Given the description of an element on the screen output the (x, y) to click on. 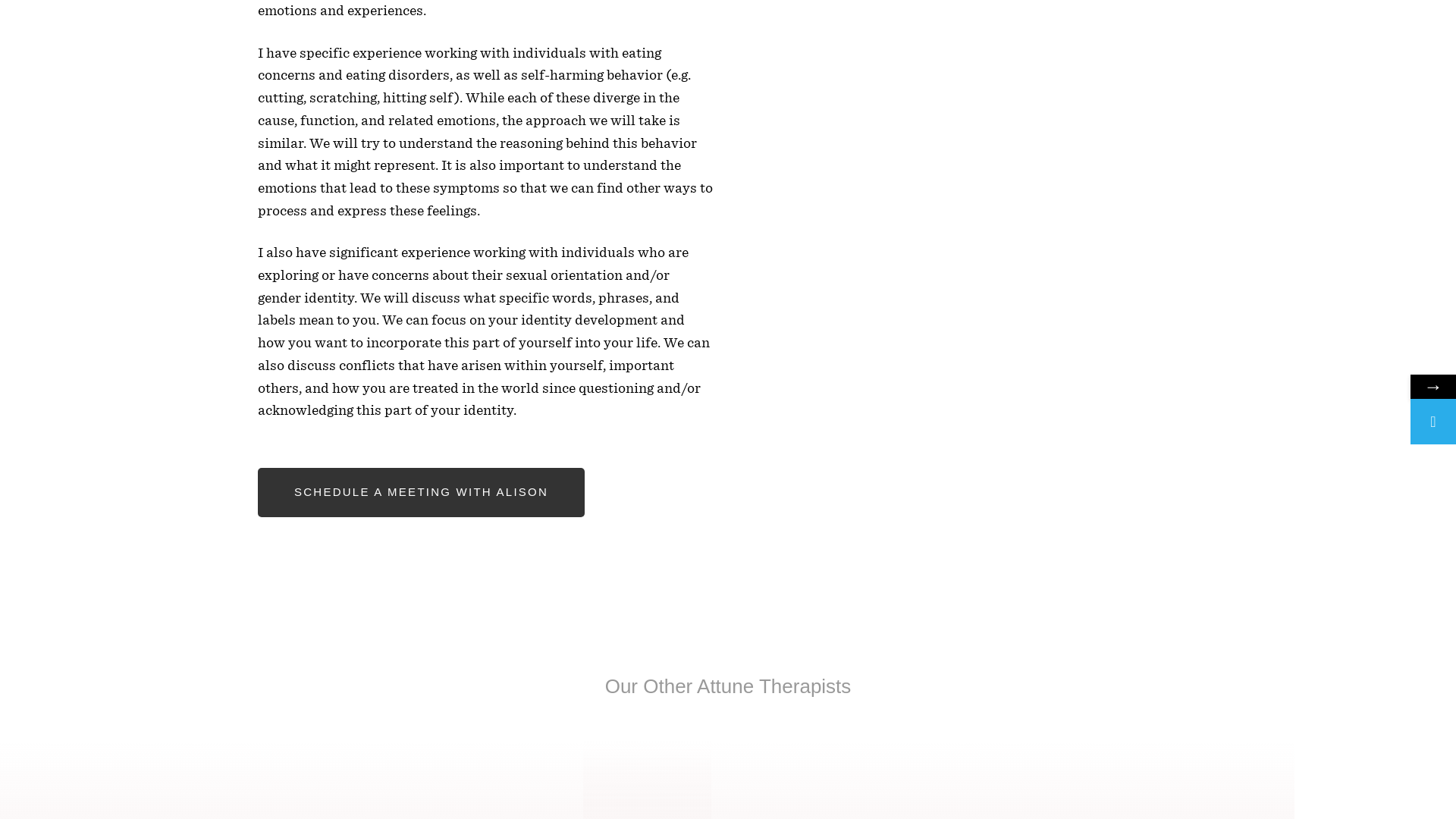
SCHEDULE A MEETING WITH ALISON (421, 491)
